Given the description of an element on the screen output the (x, y) to click on. 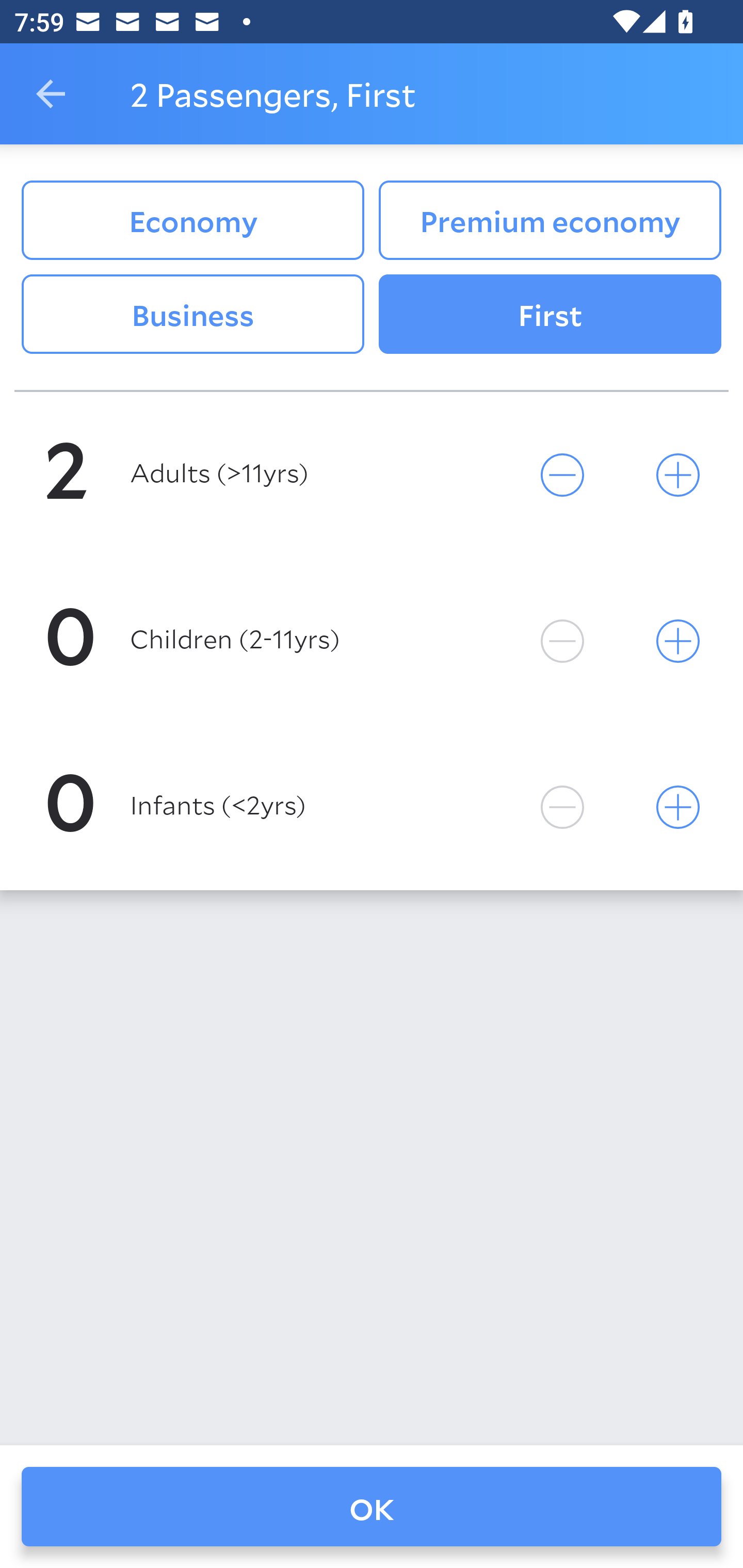
Navigate up (50, 93)
Economy (192, 220)
Premium economy (549, 220)
Business (192, 314)
First (549, 314)
OK (371, 1506)
